Given the description of an element on the screen output the (x, y) to click on. 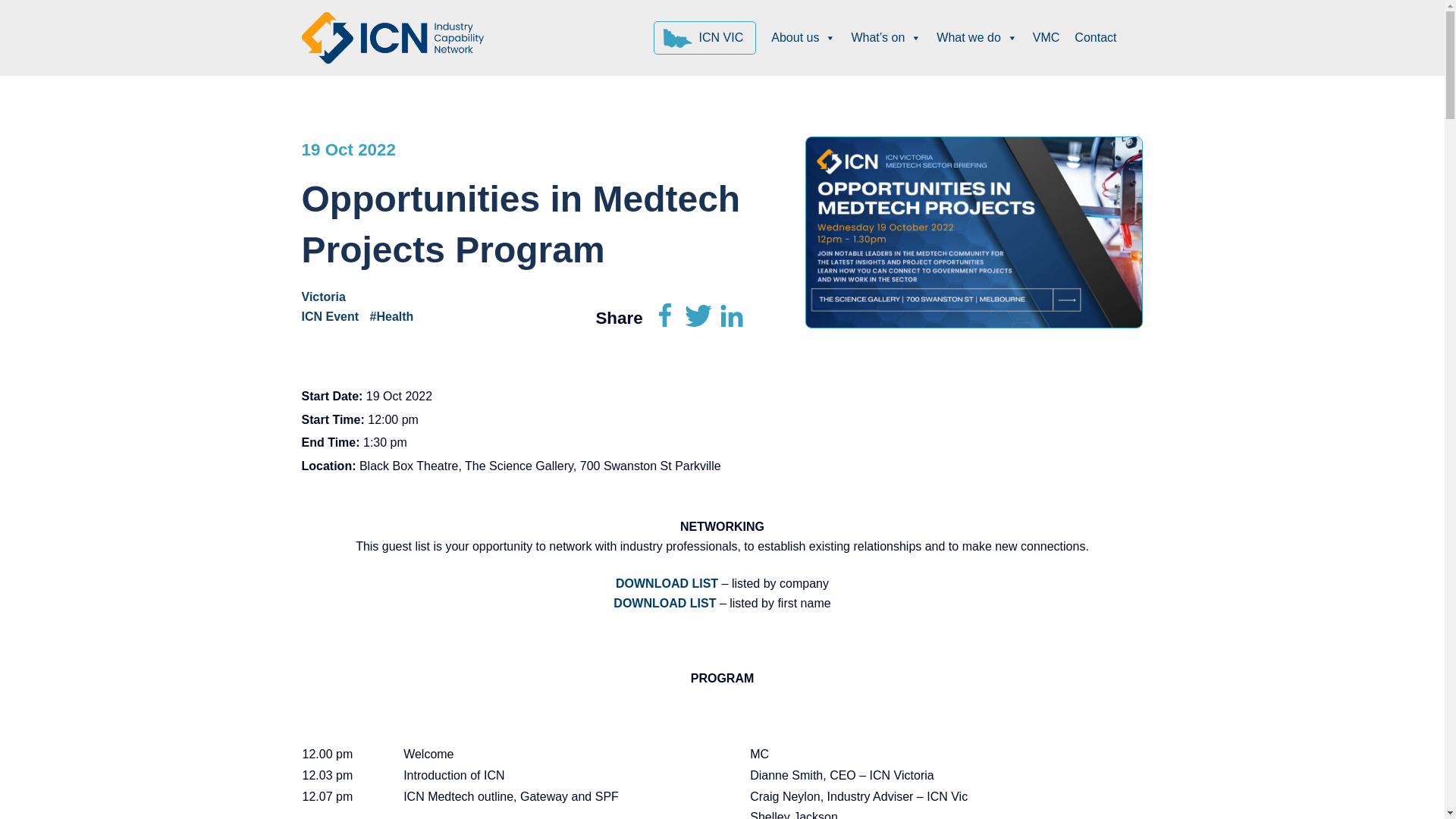
Victoria (327, 296)
About us (802, 37)
ICN Event (333, 316)
Contact (1095, 37)
VMC (1046, 37)
What we do (976, 37)
Go to ICN Homepage (392, 36)
Go to ICN VIC Homepage (705, 37)
DOWNLOAD LIST (666, 583)
DOWNLOAD LIST (664, 603)
ICN VIC (705, 37)
